Given the description of an element on the screen output the (x, y) to click on. 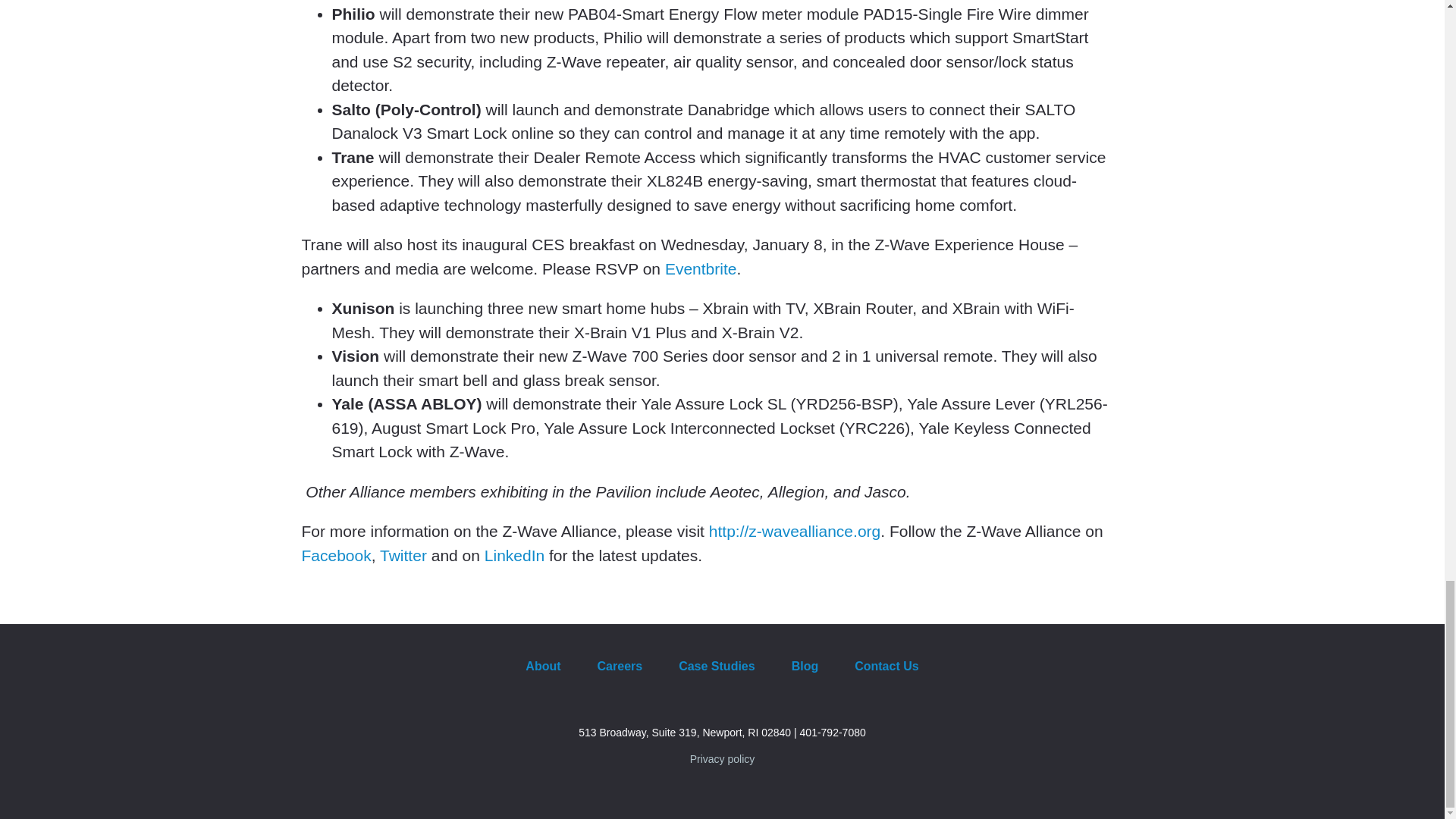
Eventbrite (700, 268)
LinkedIn (514, 555)
Twitter (403, 555)
Facebook (336, 555)
Contact Us (885, 666)
Case Studies (717, 666)
Blog (805, 666)
About (542, 666)
Careers (620, 666)
